Given the description of an element on the screen output the (x, y) to click on. 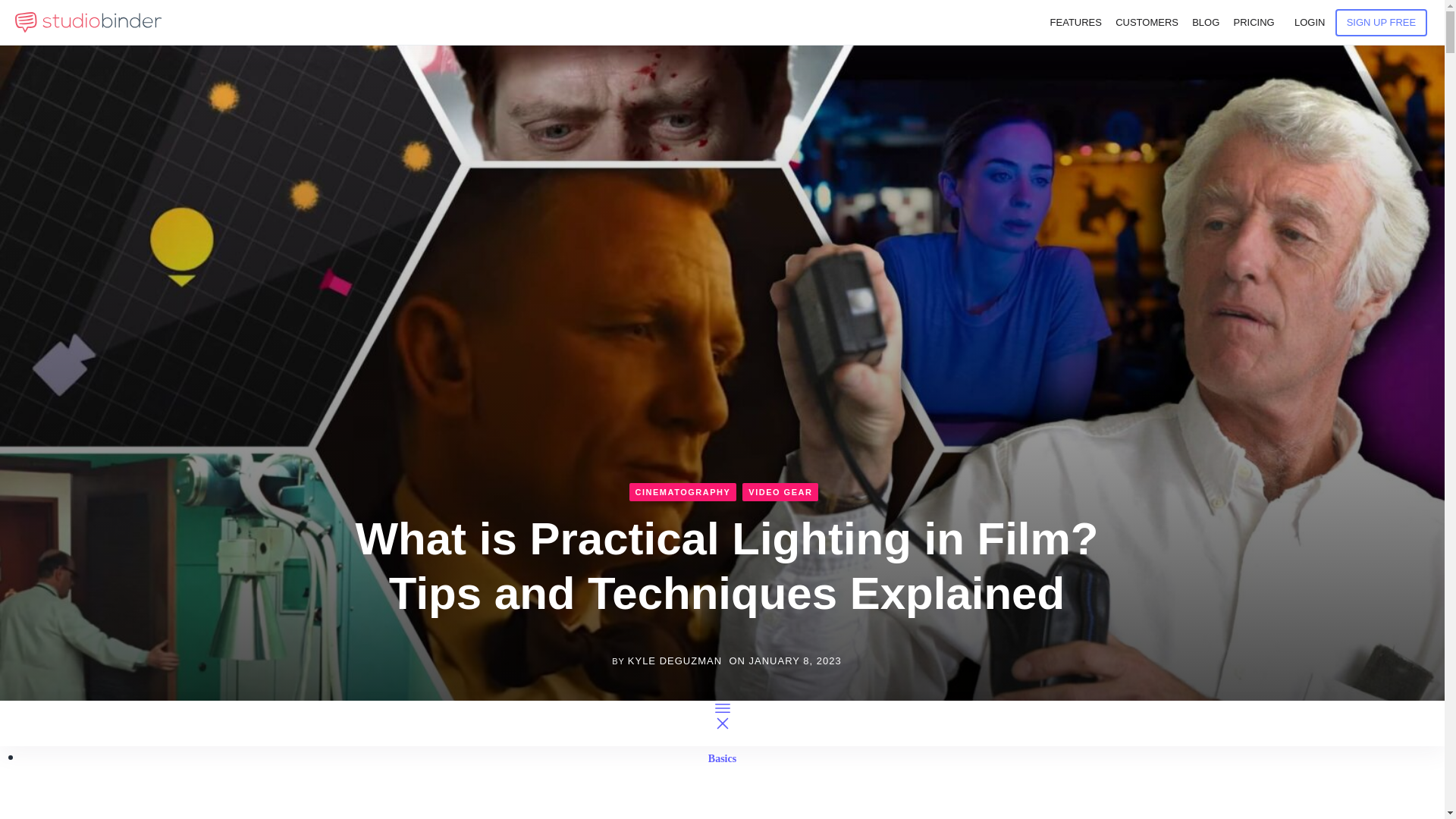
Blog (1206, 22)
SIGN UP FREE (1381, 22)
CUSTOMERS (1146, 22)
LOGIN (1309, 22)
BLOG (1206, 22)
ON JANUARY 8, 2023 (785, 660)
Pricing (1253, 22)
Sign Up Free (1381, 22)
KYLE DEGUZMAN (674, 660)
View all posts in 8046 (682, 492)
